Given the description of an element on the screen output the (x, y) to click on. 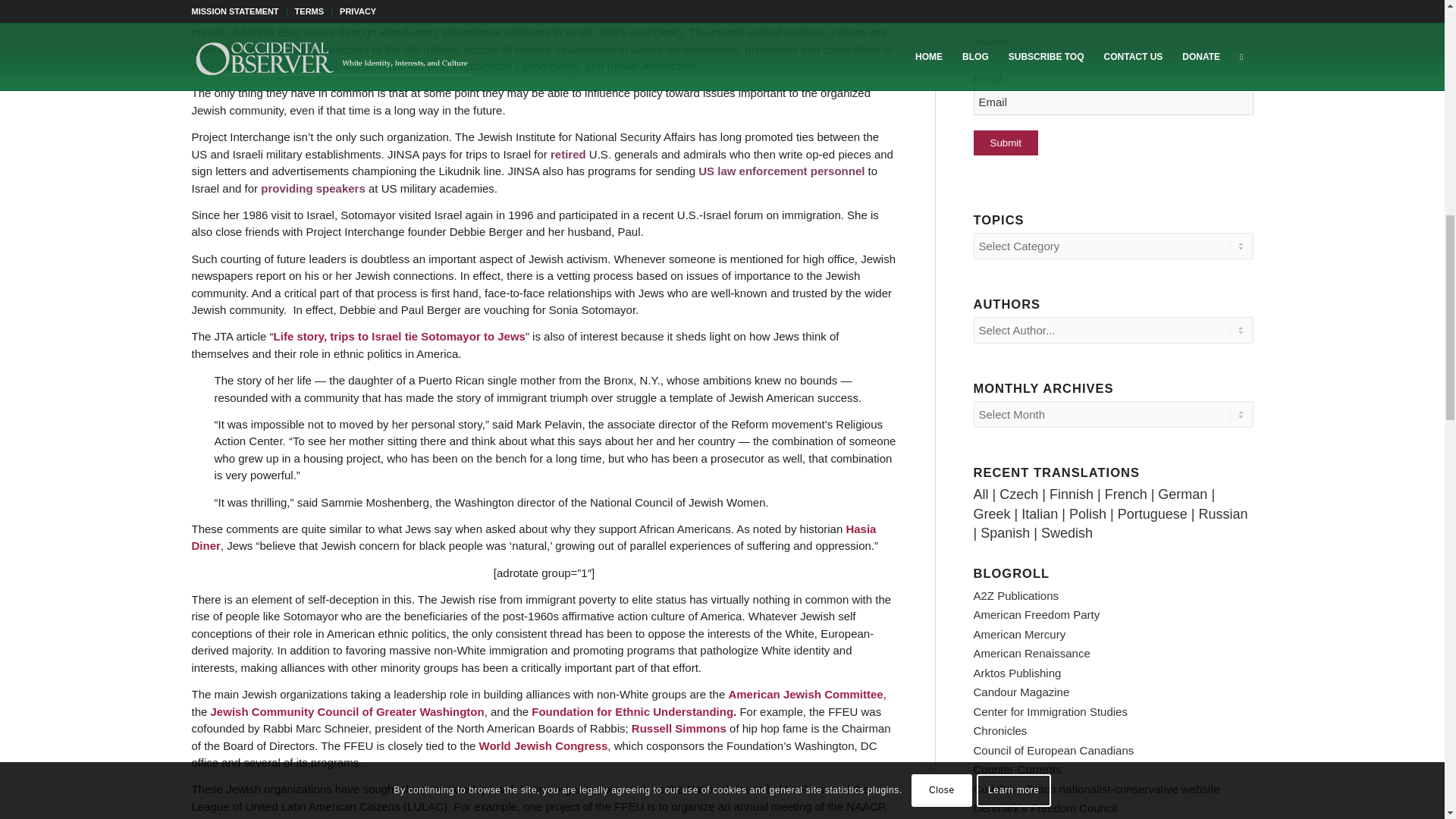
Project Interchange (486, 2)
Hasia Diner (533, 537)
retired (568, 154)
World Jewish Congress (543, 745)
Jewish Community Council of Greater Washington (347, 711)
United States (341, 15)
Submit (1006, 142)
Foundation for Ethnic Understanding (632, 711)
Life story, trips to Israel tie Sotomayor to Jews (399, 336)
Russell Simmons (678, 727)
US law enforcement personnel (781, 170)
American Jewish Committee (805, 694)
providing speakers (312, 187)
invited (332, 2)
international leaders (459, 15)
